Given the description of an element on the screen output the (x, y) to click on. 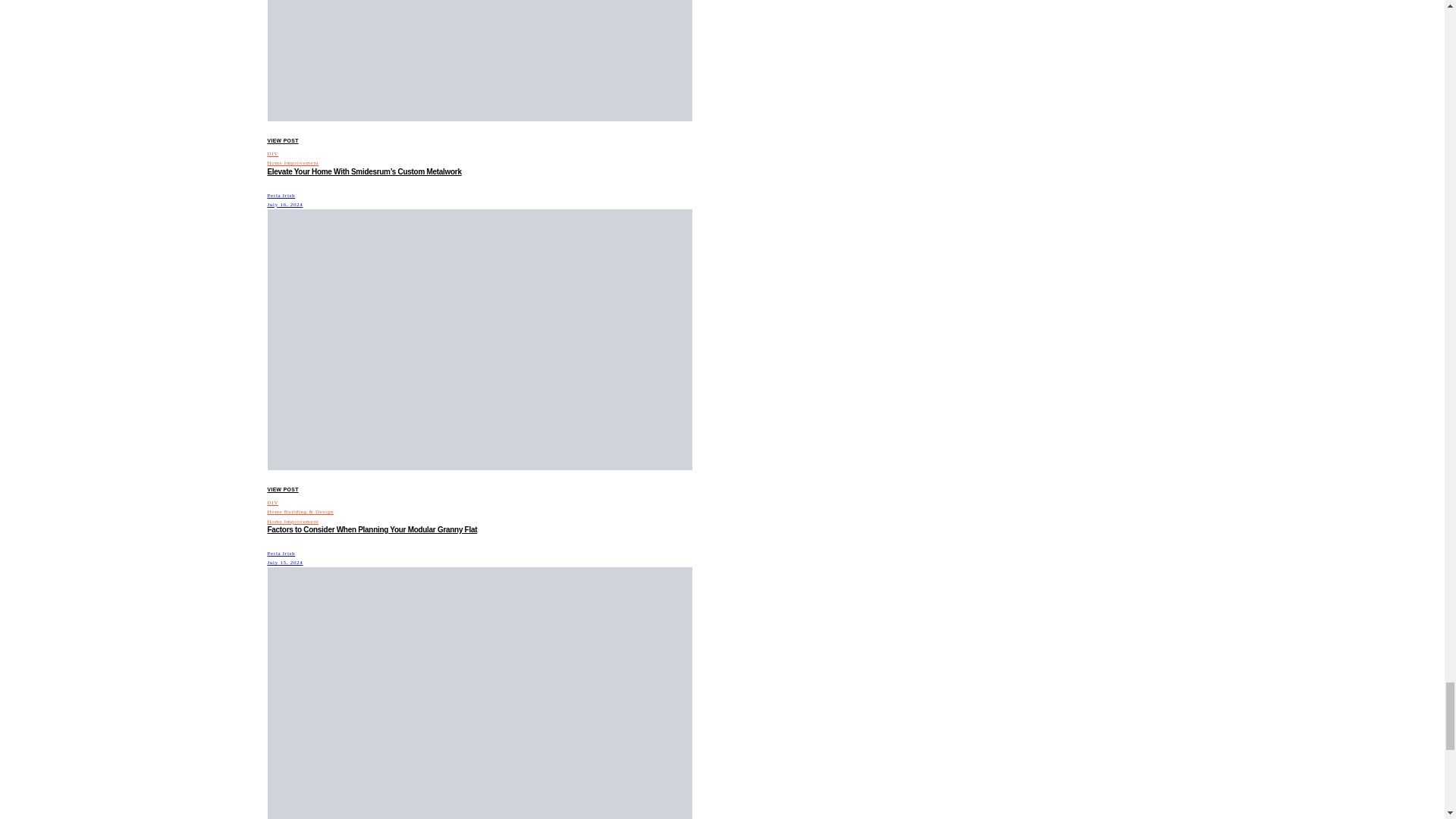
View all posts by Perla Irish (280, 195)
View all posts by Perla Irish (280, 553)
